Given the description of an element on the screen output the (x, y) to click on. 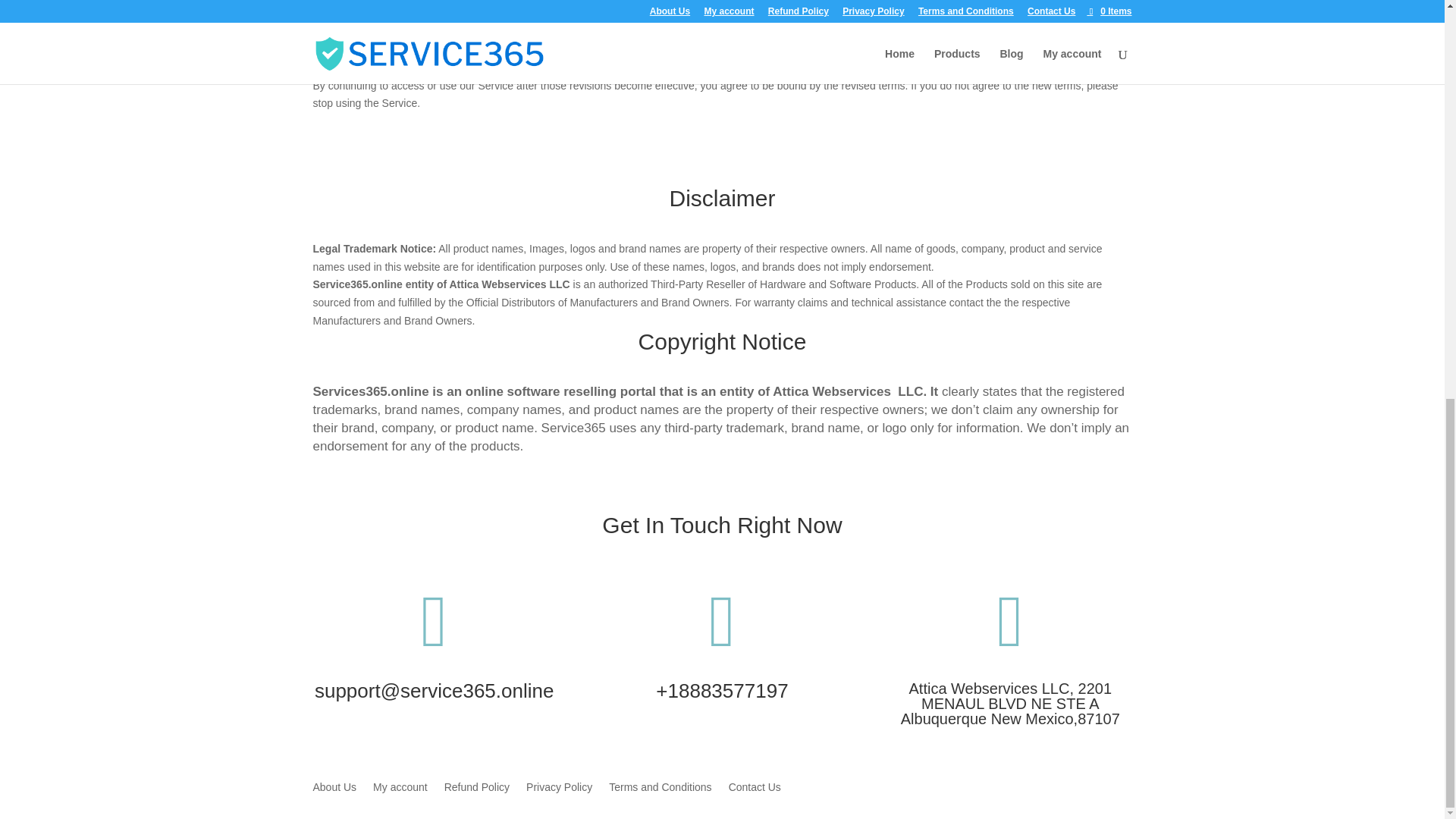
Refund Policy (476, 790)
About Us (334, 790)
Terms and Conditions (659, 790)
Contact Us (754, 790)
My account (400, 790)
Privacy Policy (558, 790)
